Given the description of an element on the screen output the (x, y) to click on. 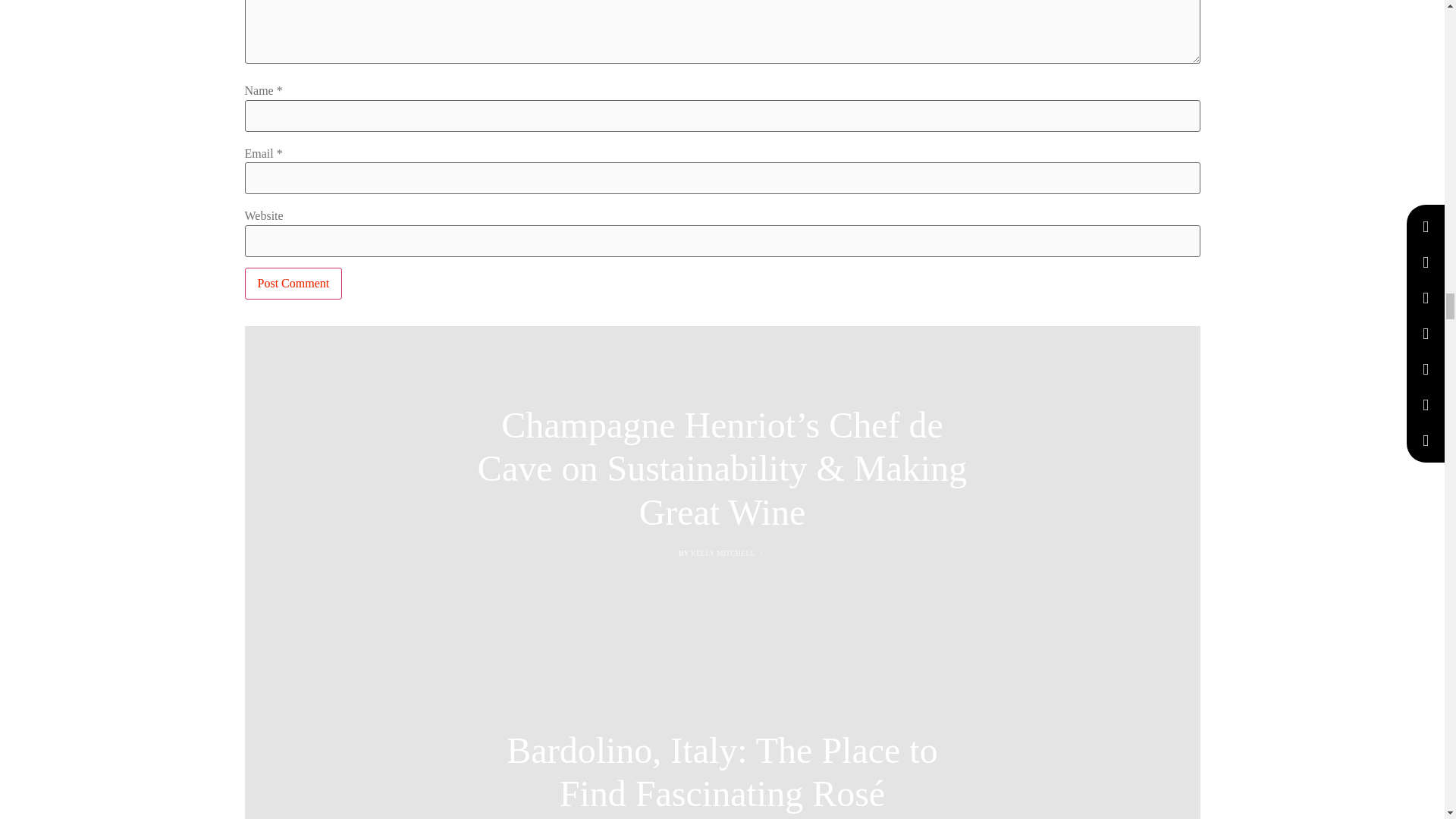
Post Comment (293, 283)
